Given the description of an element on the screen output the (x, y) to click on. 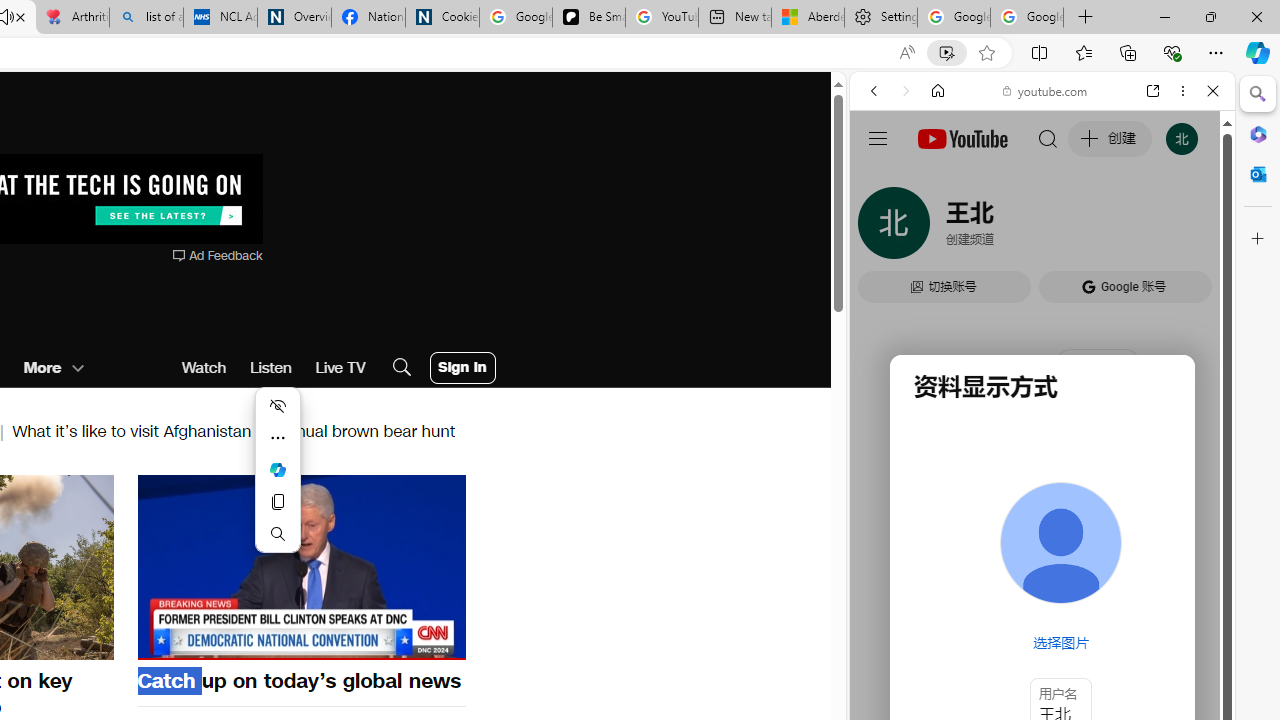
Captions Unavailable (350, 642)
Options (394, 642)
Cookies (441, 17)
Options (394, 642)
